Given the description of an element on the screen output the (x, y) to click on. 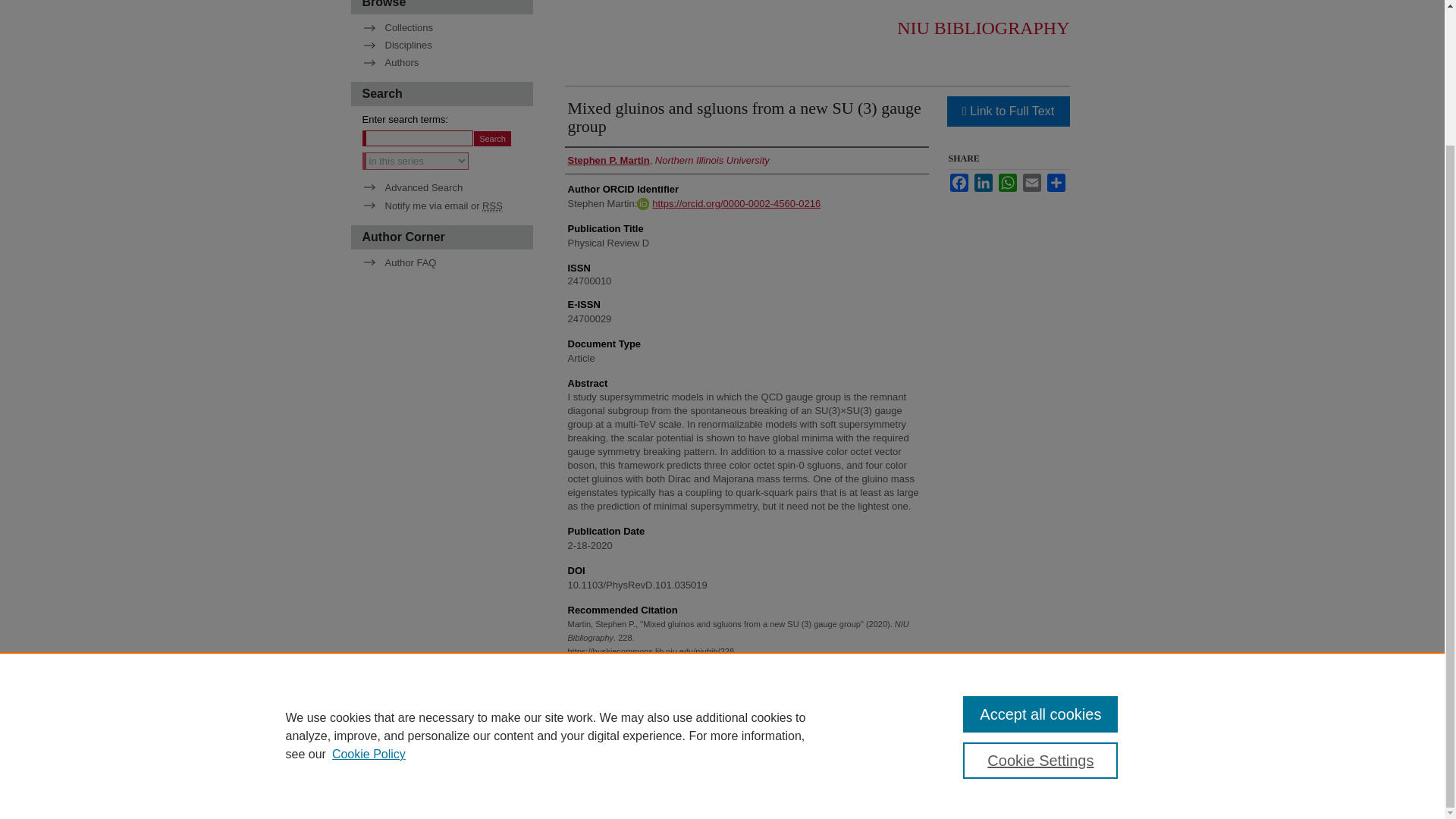
Stephen P. Martin, Northern Illinois University (667, 160)
Search (492, 138)
Notify me via email or RSS (447, 205)
Facebook (958, 182)
Advanced Search (412, 186)
Link opens in new window (1007, 111)
NIU BIBLIOGRAPHY (982, 27)
Share (1055, 182)
Email (1031, 182)
WhatsApp (1006, 182)
Authors (447, 61)
Search (492, 138)
Disciplines (447, 44)
Search (492, 138)
LinkedIn (982, 182)
